Given the description of an element on the screen output the (x, y) to click on. 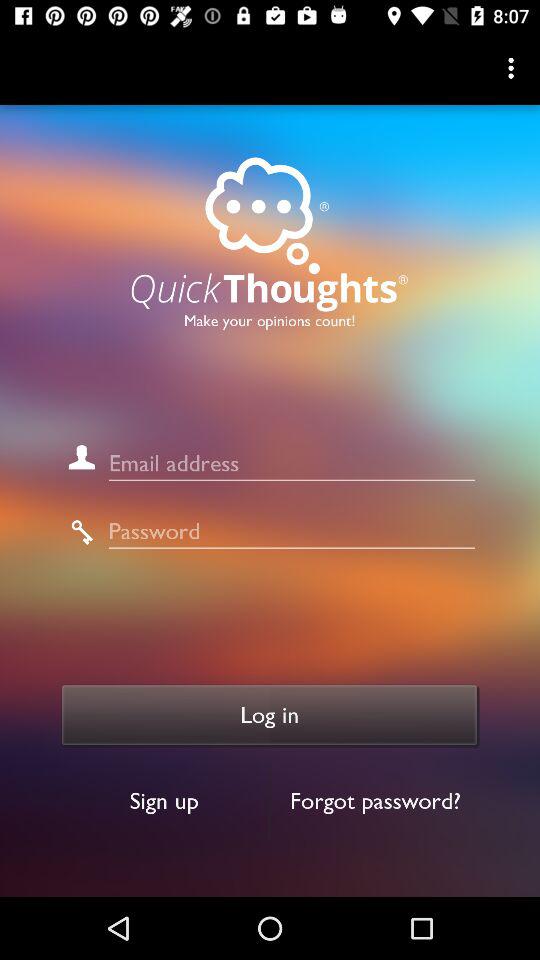
enter email address (291, 463)
